Given the description of an element on the screen output the (x, y) to click on. 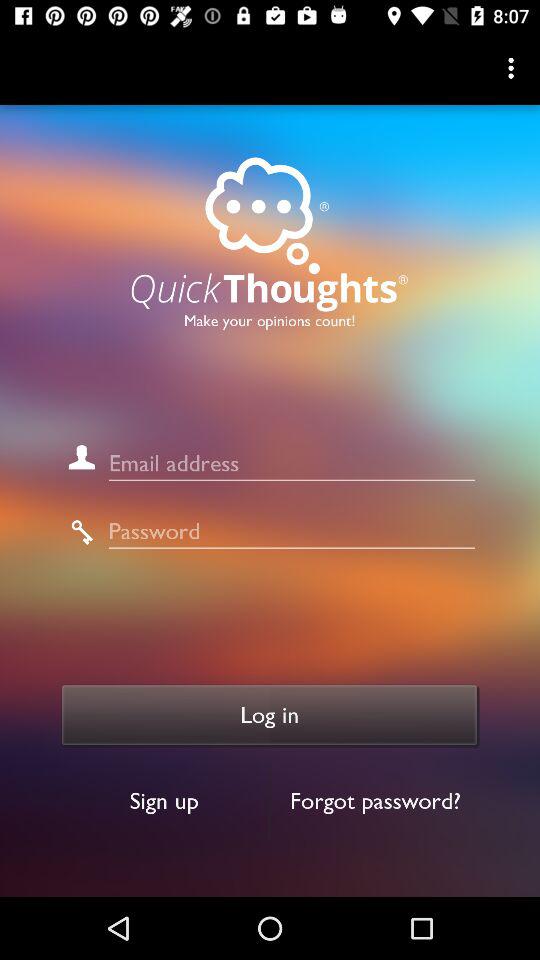
enter email address (291, 463)
